Given the description of an element on the screen output the (x, y) to click on. 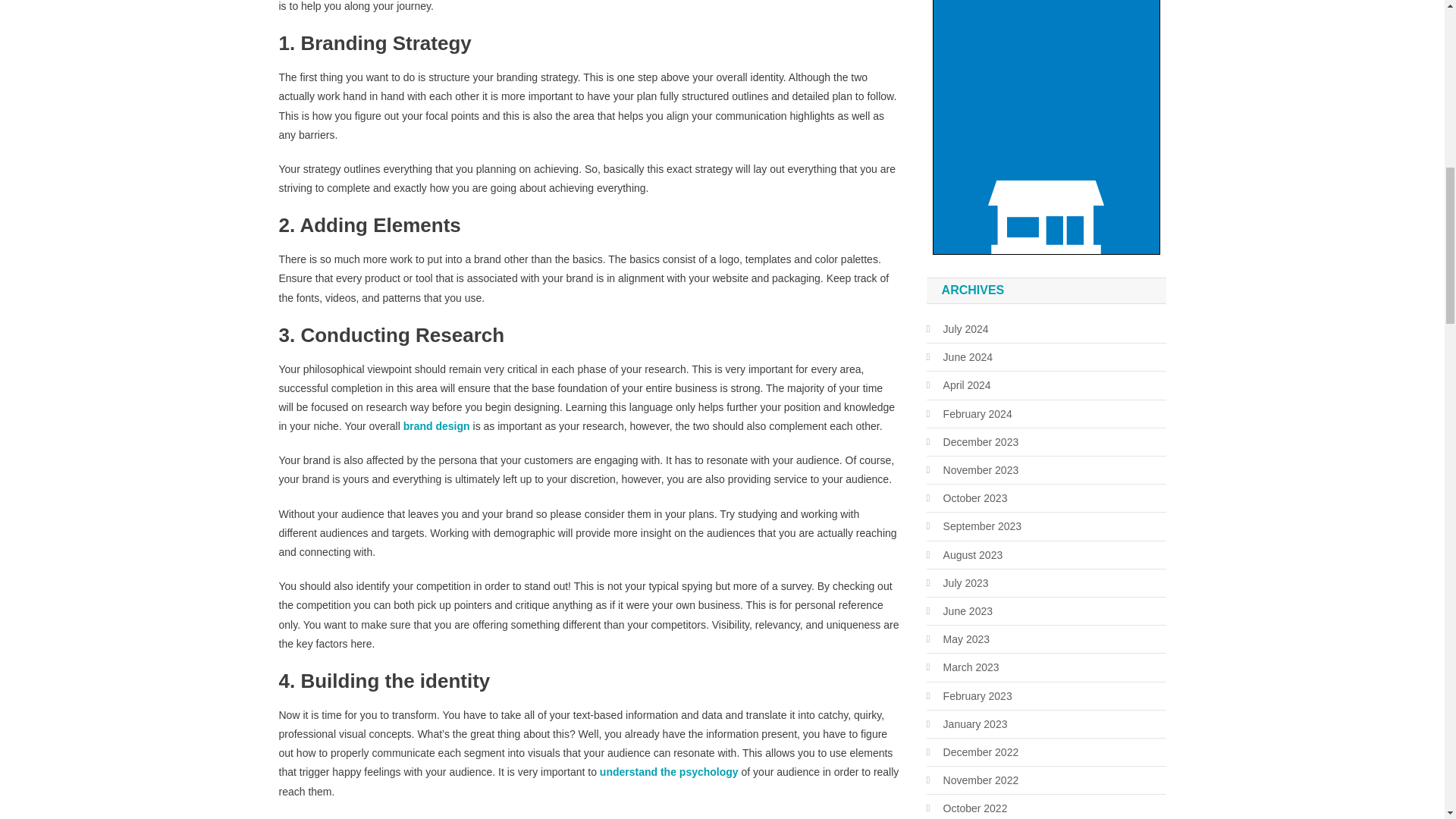
understand the psychology (668, 771)
brand design (436, 426)
